Given the description of an element on the screen output the (x, y) to click on. 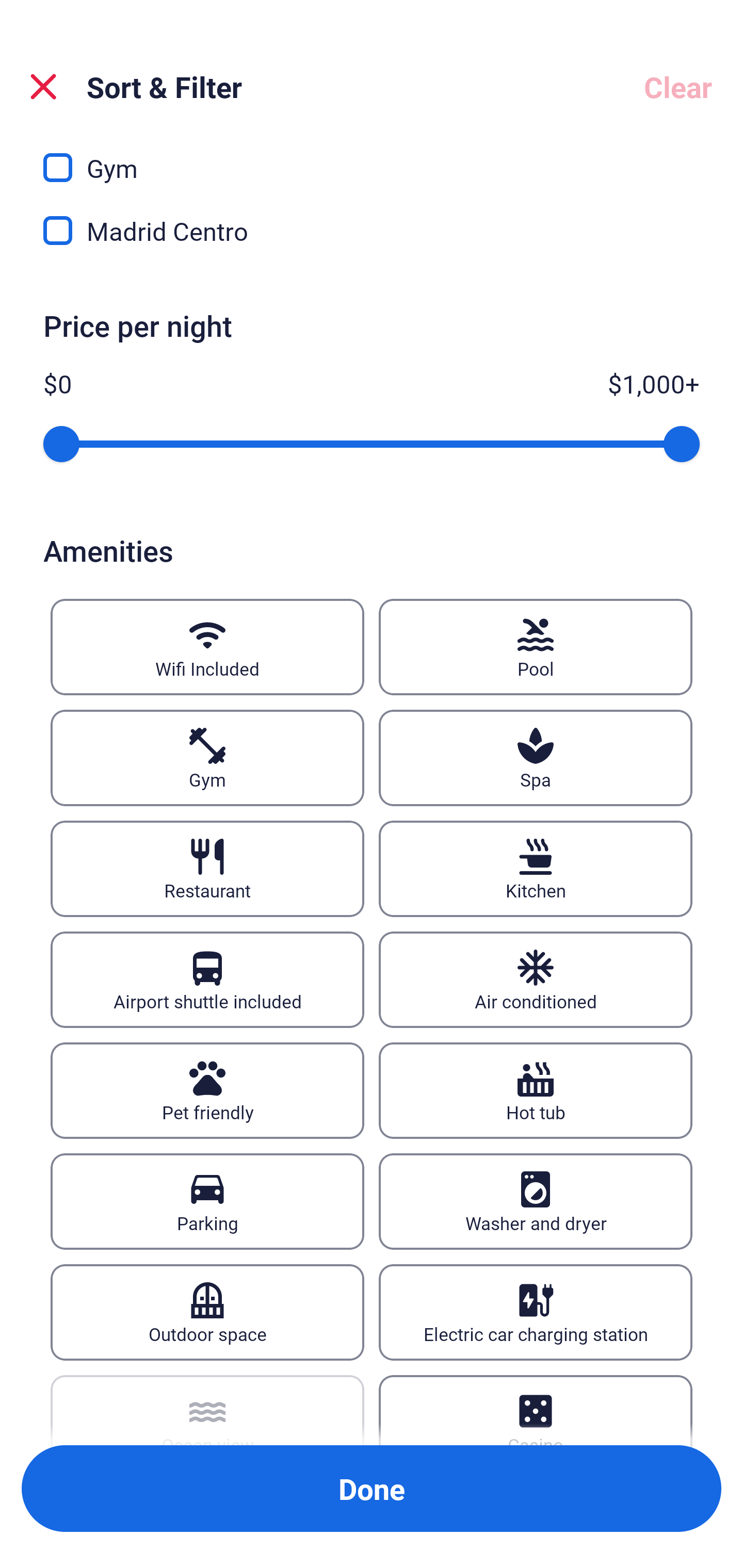
Close Sort and Filter (43, 86)
Clear (677, 86)
Gym, Gym (371, 159)
Madrid Centro, Madrid Centro (371, 231)
Wifi Included (207, 646)
Pool (535, 646)
Gym (207, 757)
Spa (535, 757)
Restaurant (207, 868)
Kitchen (535, 868)
Airport shuttle included (207, 979)
Air conditioned (535, 979)
Pet friendly (207, 1090)
Hot tub (535, 1090)
Parking (207, 1201)
Washer and dryer (535, 1201)
Outdoor space (207, 1312)
Electric car charging station (535, 1312)
Apply and close Sort and Filter Done (371, 1488)
